Given the description of an element on the screen output the (x, y) to click on. 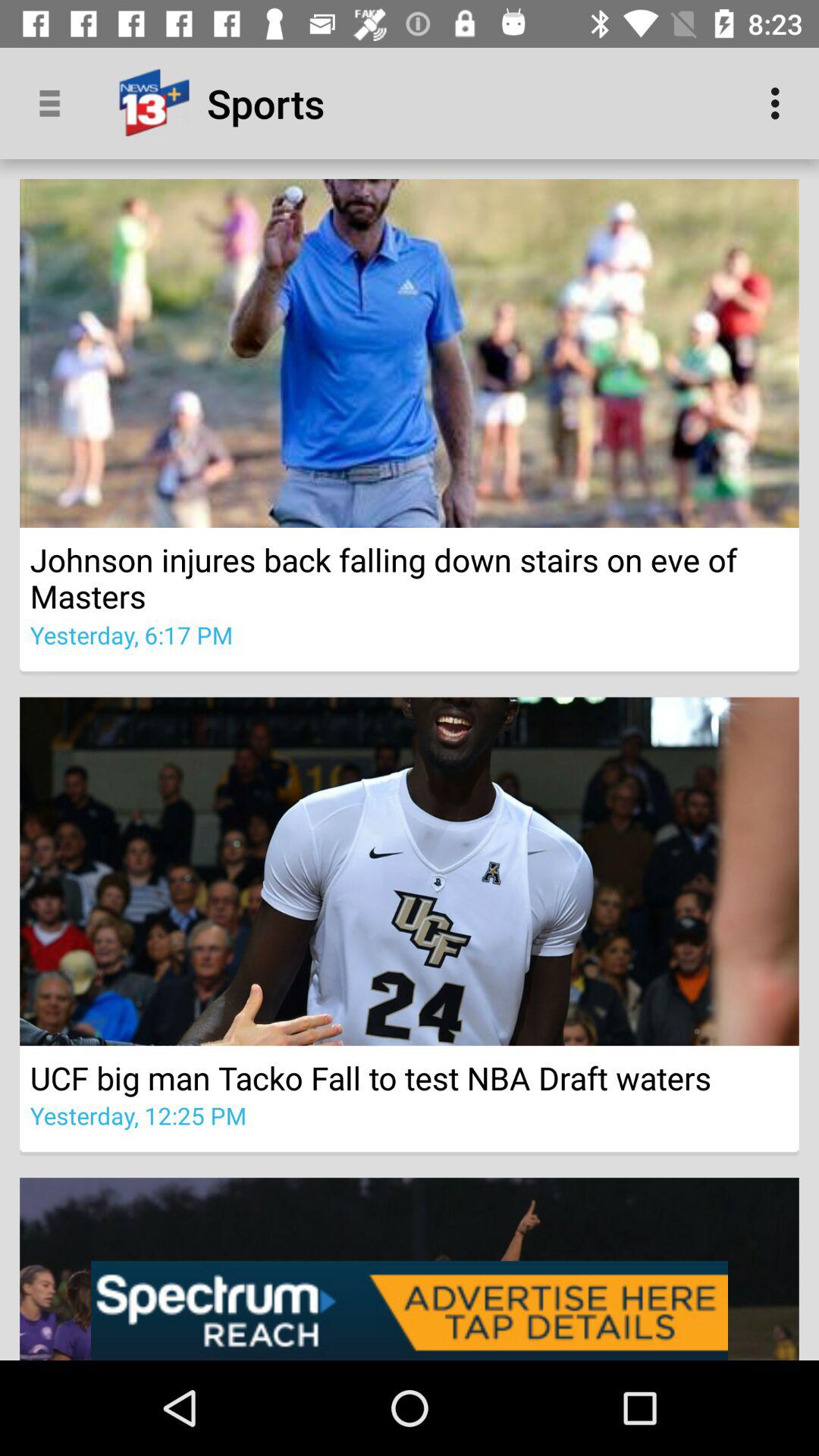
advertising pop up banner (409, 1310)
